Given the description of an element on the screen output the (x, y) to click on. 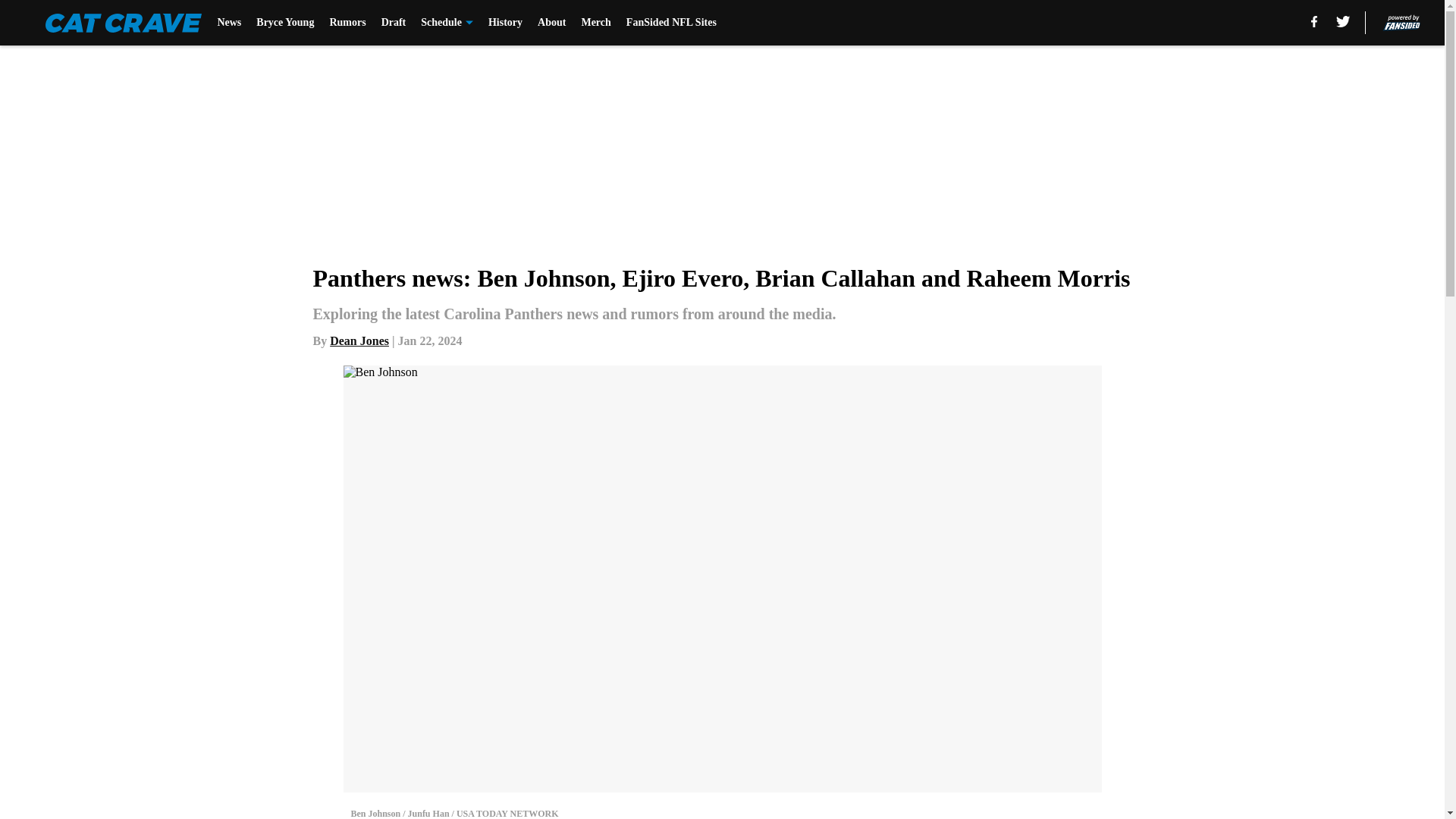
Draft (393, 22)
About (551, 22)
FanSided NFL Sites (671, 22)
News (228, 22)
Bryce Young (285, 22)
History (504, 22)
Merch (595, 22)
Dean Jones (359, 340)
Rumors (347, 22)
